Given the description of an element on the screen output the (x, y) to click on. 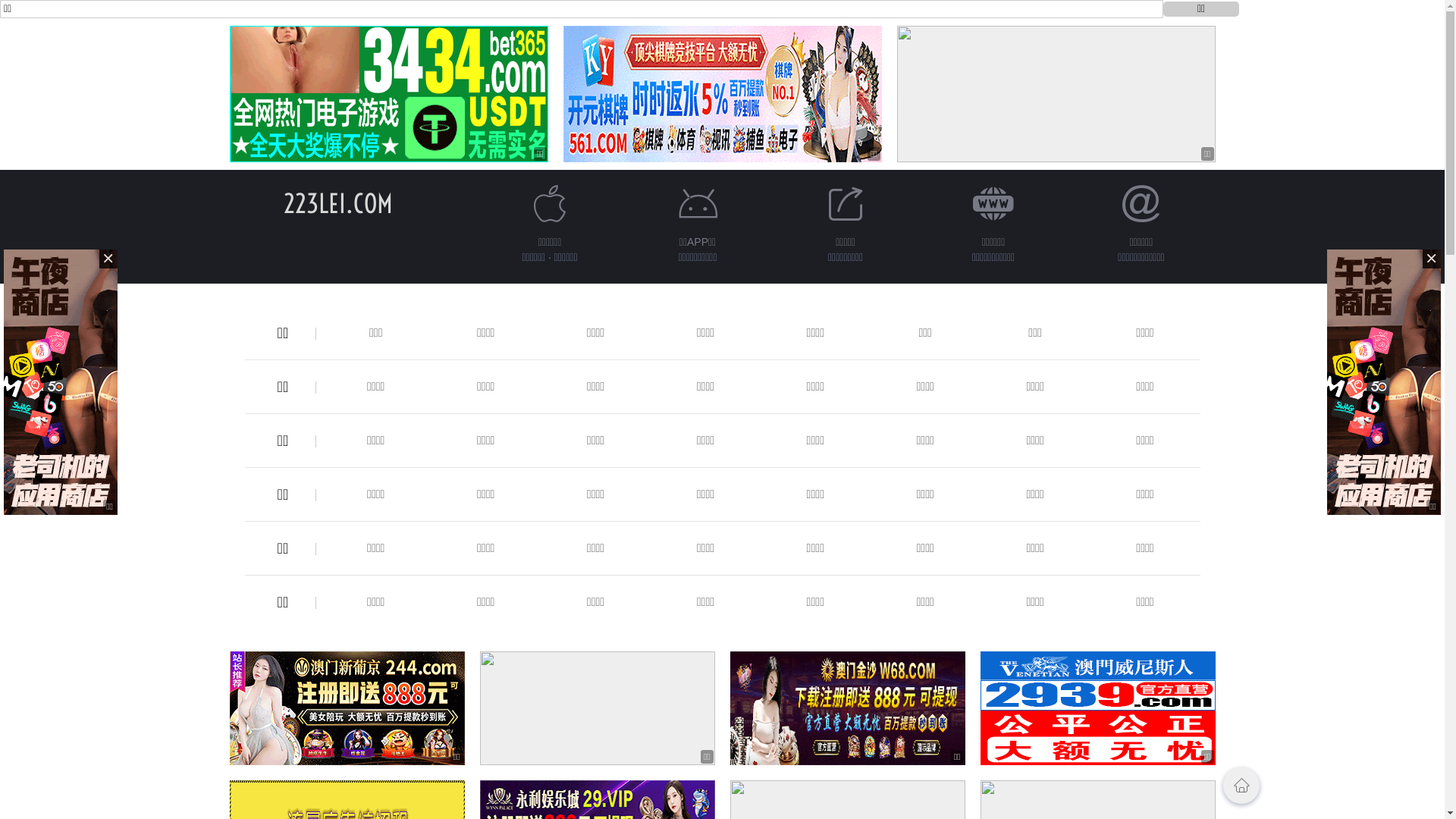
223LEI.COM Element type: text (337, 203)
